Given the description of an element on the screen output the (x, y) to click on. 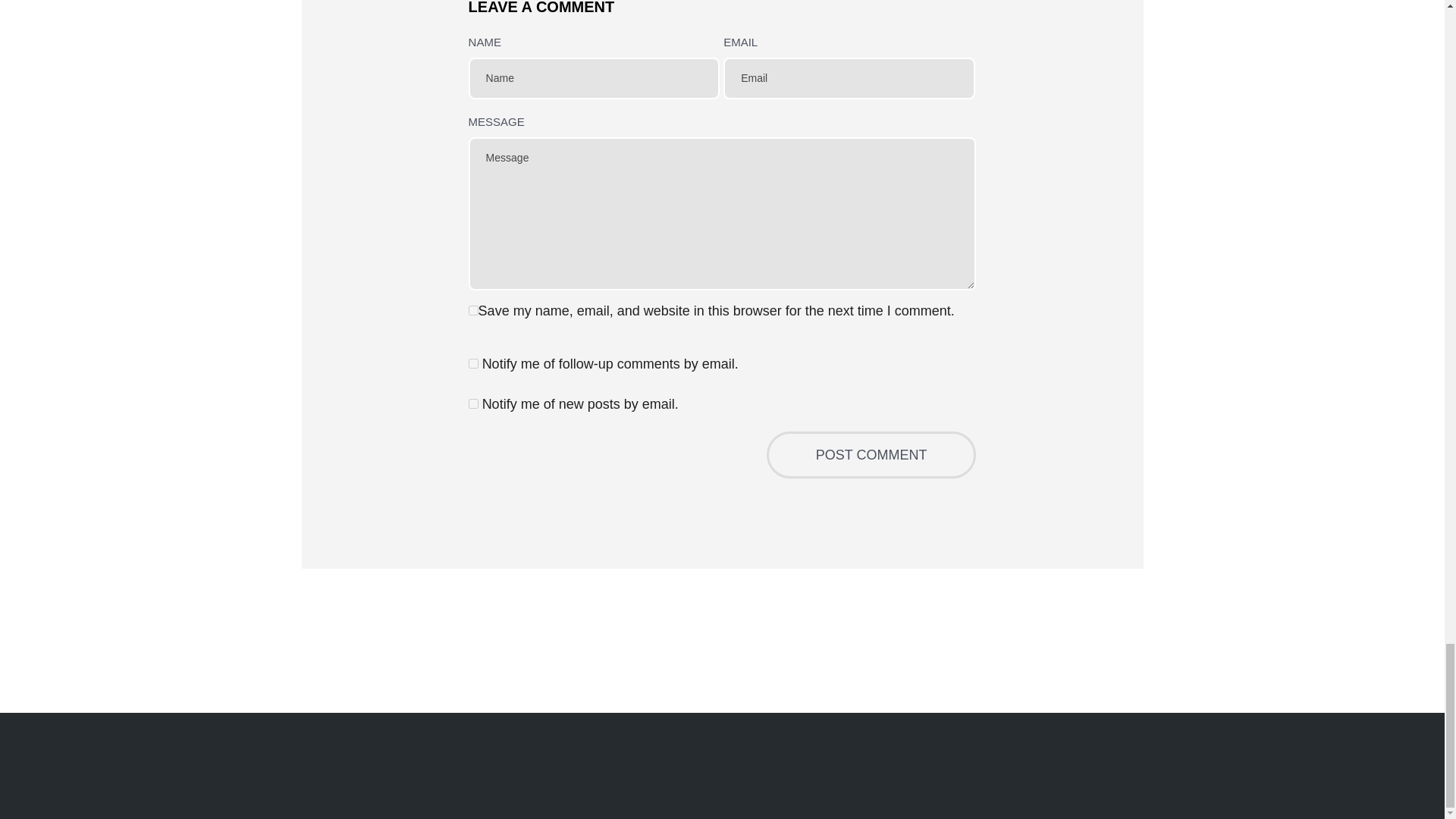
yes (473, 310)
Post Comment (871, 454)
subscribe (473, 363)
Post Comment (871, 454)
subscribe (473, 403)
